Given the description of an element on the screen output the (x, y) to click on. 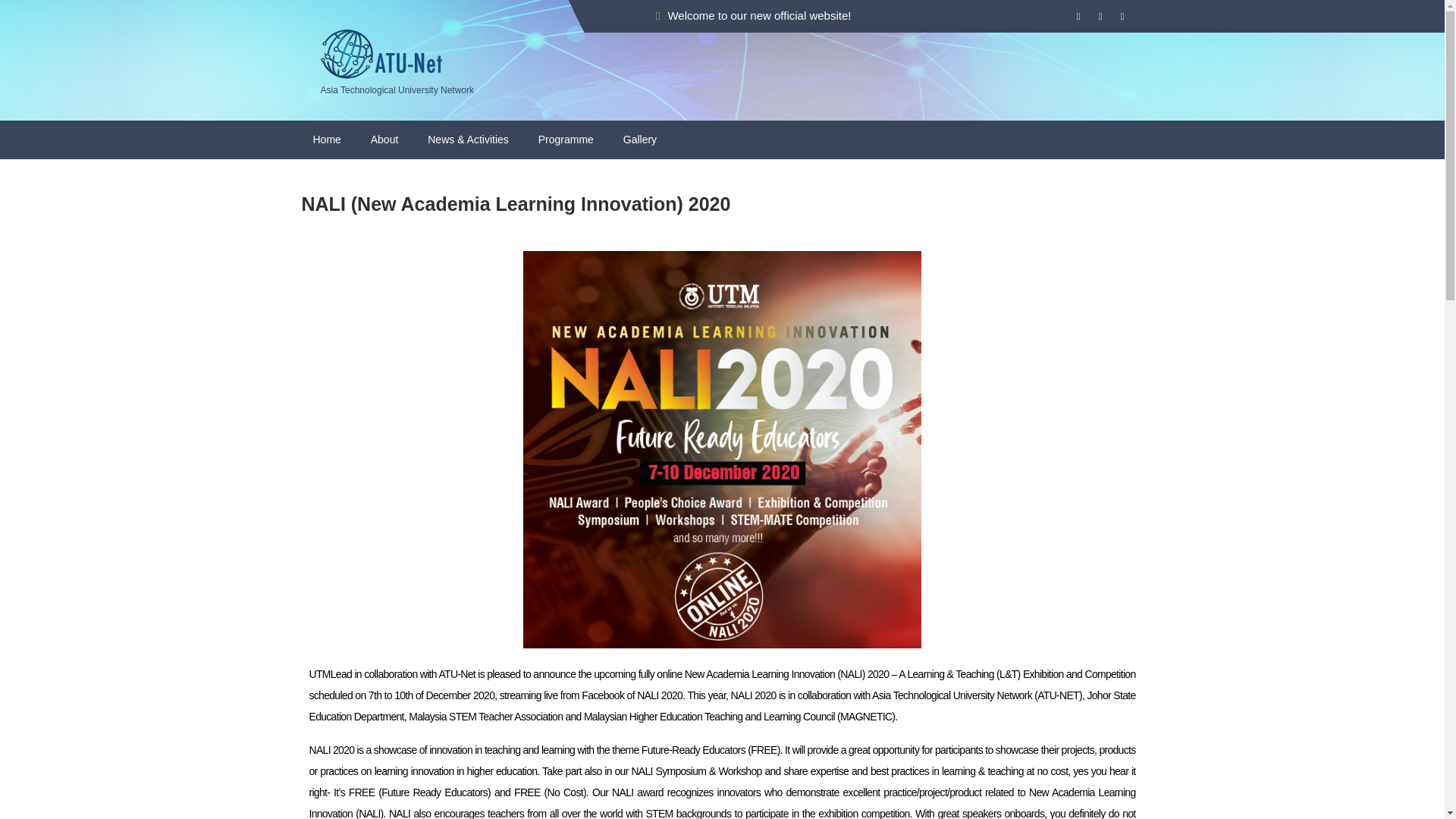
Home (328, 138)
Programme (567, 138)
Gallery (641, 138)
About (386, 138)
